Given the description of an element on the screen output the (x, y) to click on. 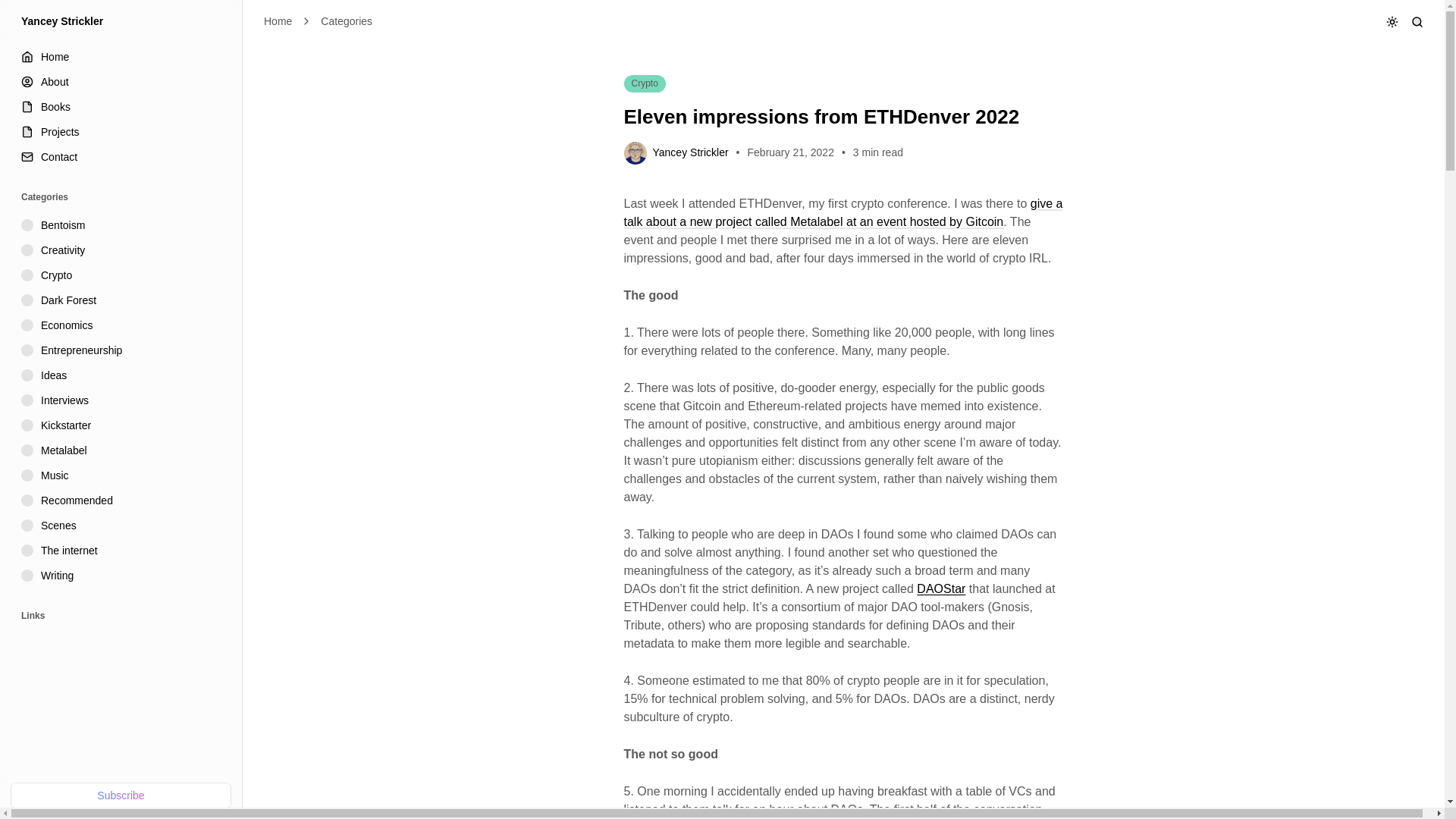
Economics (122, 325)
Scenes (122, 525)
Recommended (122, 500)
light (1350, 56)
Projects (122, 132)
Crypto (122, 275)
Categories (346, 21)
Books (122, 106)
Interviews (122, 400)
Home (277, 21)
Bentoism (122, 225)
Contact (122, 156)
Crypto (644, 83)
About (122, 82)
DAOStar (941, 588)
